Given the description of an element on the screen output the (x, y) to click on. 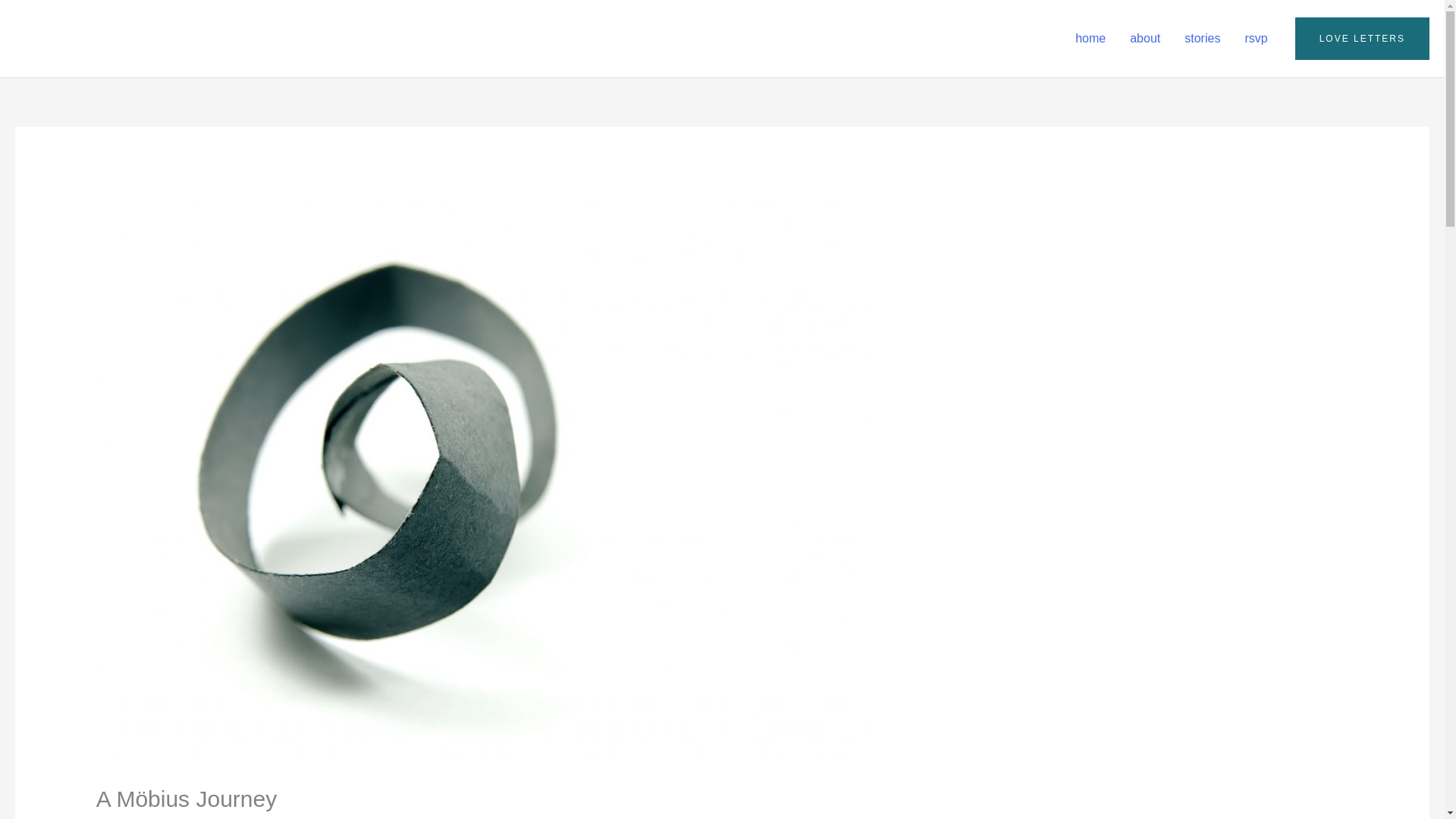
LOVE LETTERS (1362, 38)
home (1090, 38)
about (1145, 38)
stories (1201, 38)
